Given the description of an element on the screen output the (x, y) to click on. 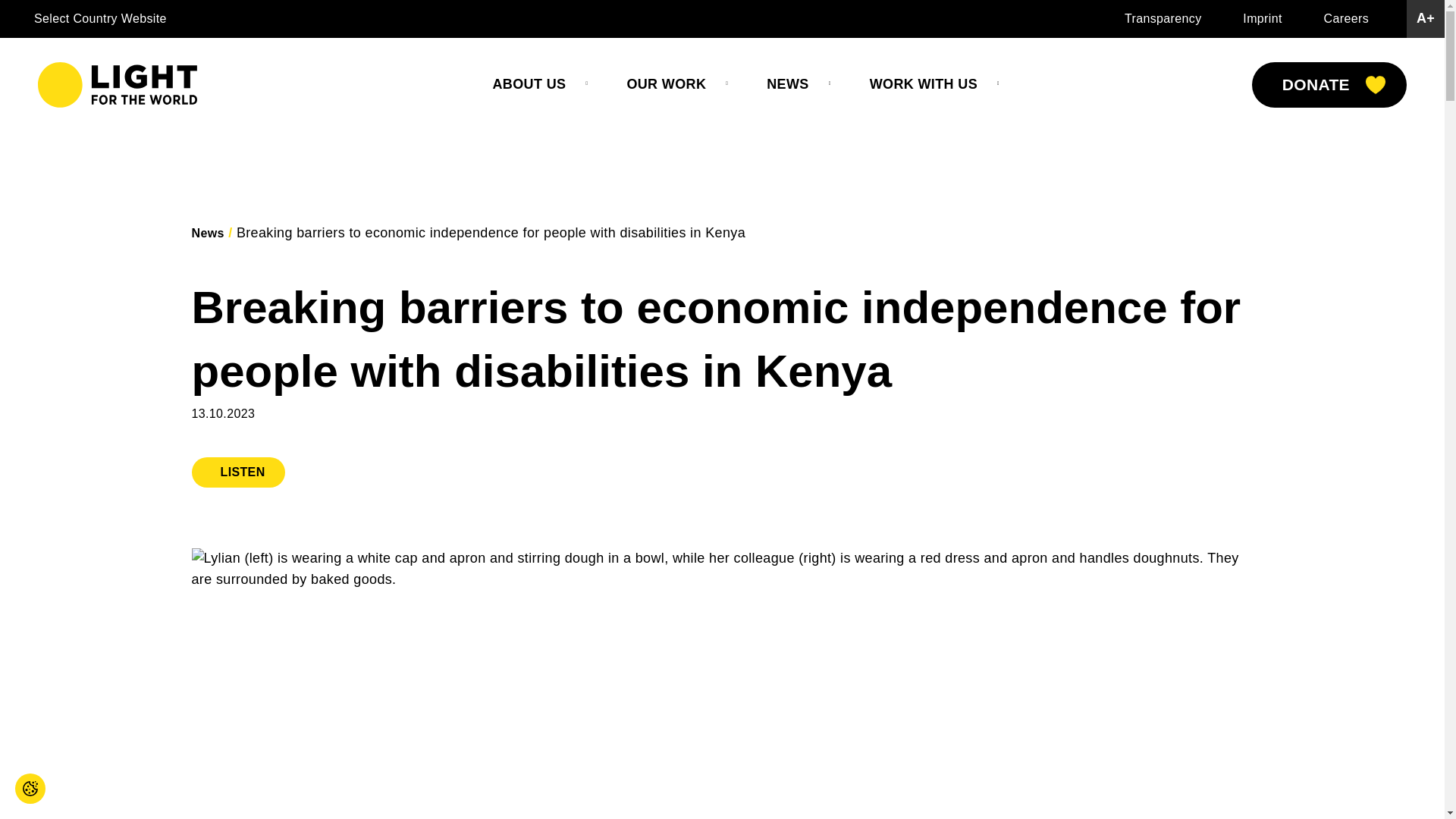
go to Homepage (116, 84)
Careers (1345, 18)
Transparency (1163, 18)
ABOUT US (529, 84)
Imprint (1262, 18)
Select Country Website (98, 18)
Listen to this page using ReadSpeaker (236, 472)
OUR WORK (666, 84)
